Given the description of an element on the screen output the (x, y) to click on. 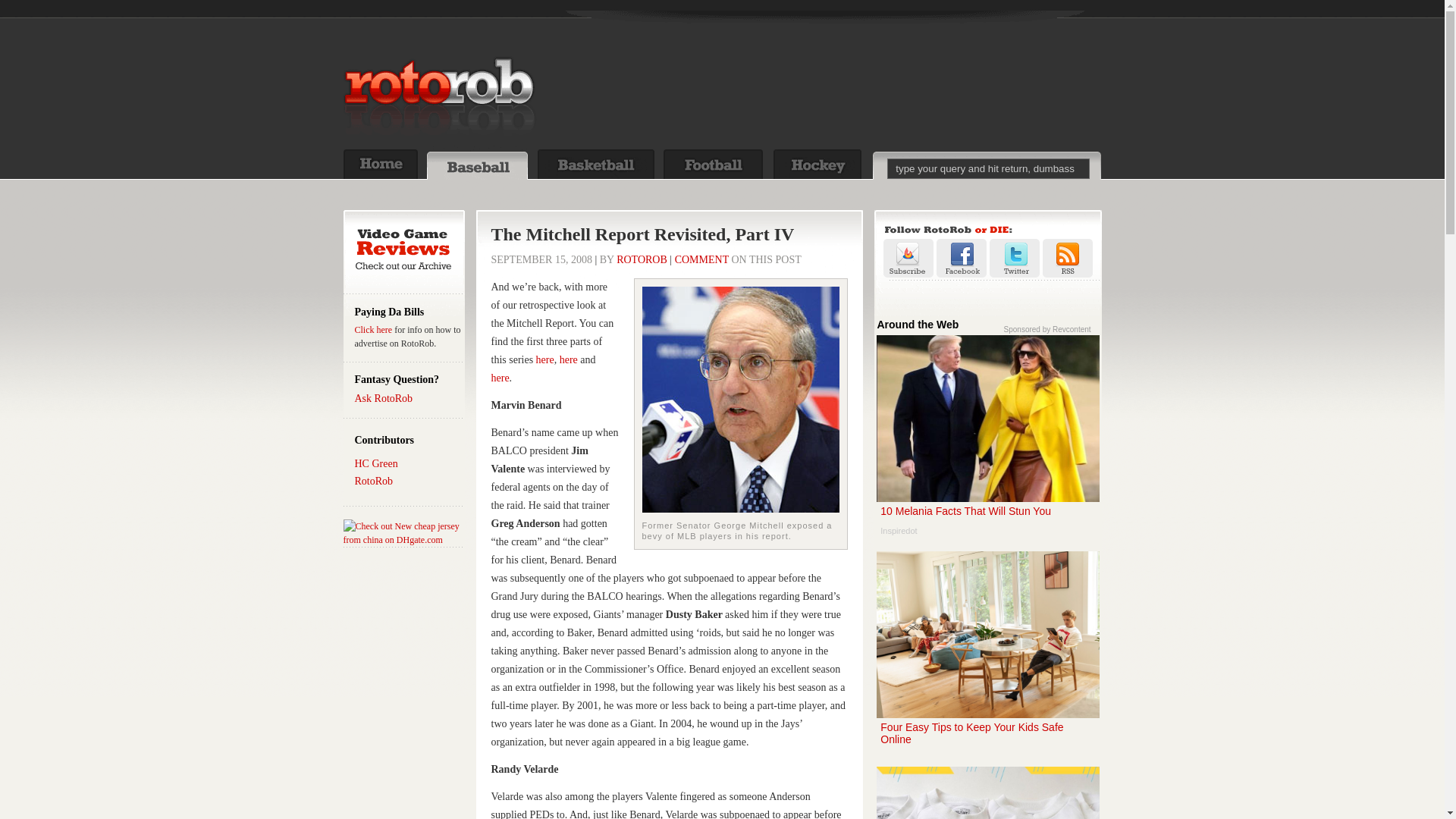
here (544, 359)
here (500, 378)
Four Easy Tips to Keep Your Kids Safe Online (987, 656)
Ask RotoRob (384, 398)
Click here (374, 329)
type your query and hit return, dumbass (987, 168)
10 Melania Facts That Will Stun You (987, 440)
Check out New cheap jersey from china on DHgate.com (403, 533)
COMMENT (987, 440)
ROTOROB (702, 259)
View all posts by RotoRob (640, 259)
here (640, 259)
HC Green (569, 359)
